Given the description of an element on the screen output the (x, y) to click on. 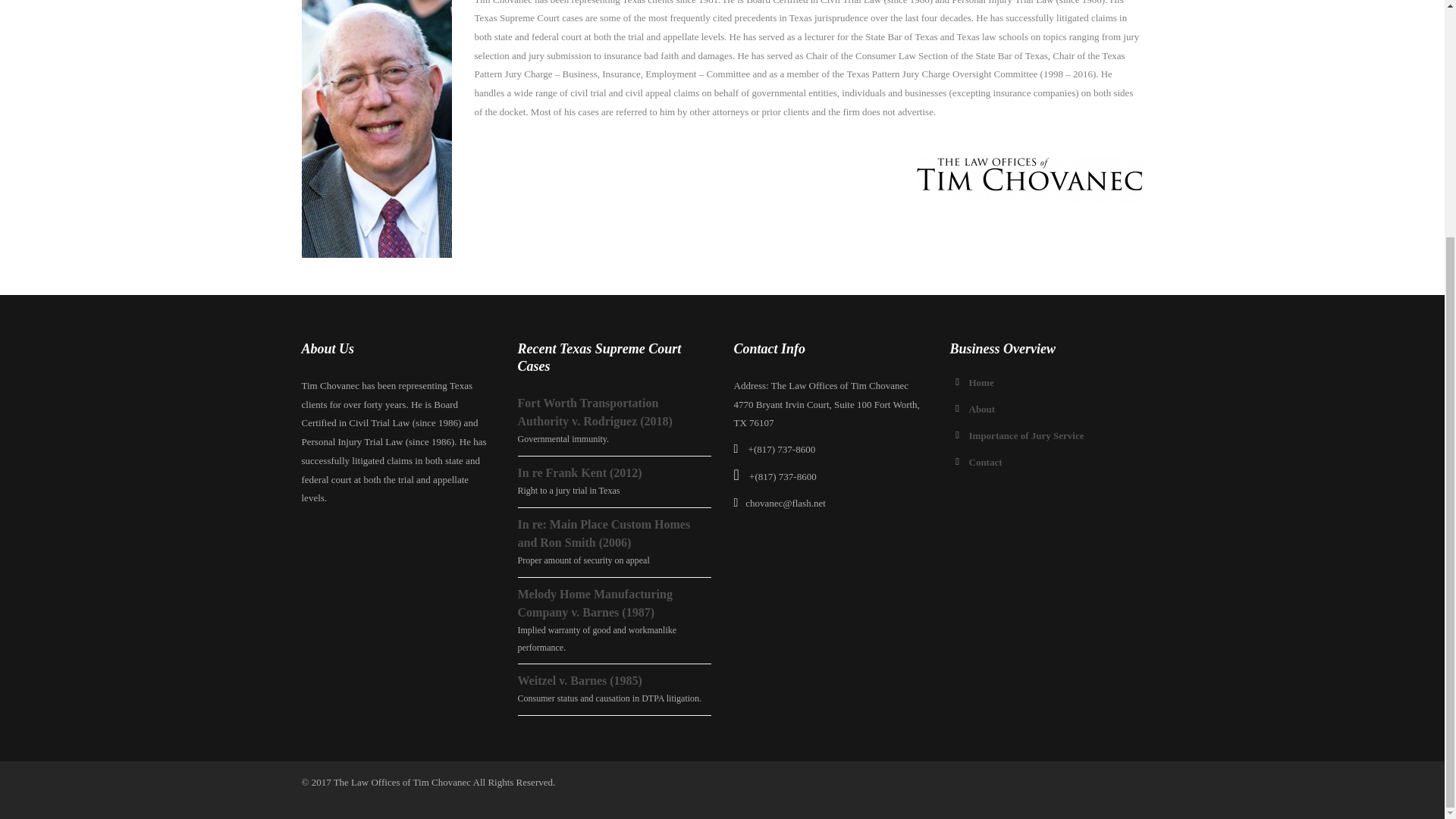
Home (981, 382)
About (982, 408)
Contact (986, 461)
Importance of Jury Service (1026, 435)
